Given the description of an element on the screen output the (x, y) to click on. 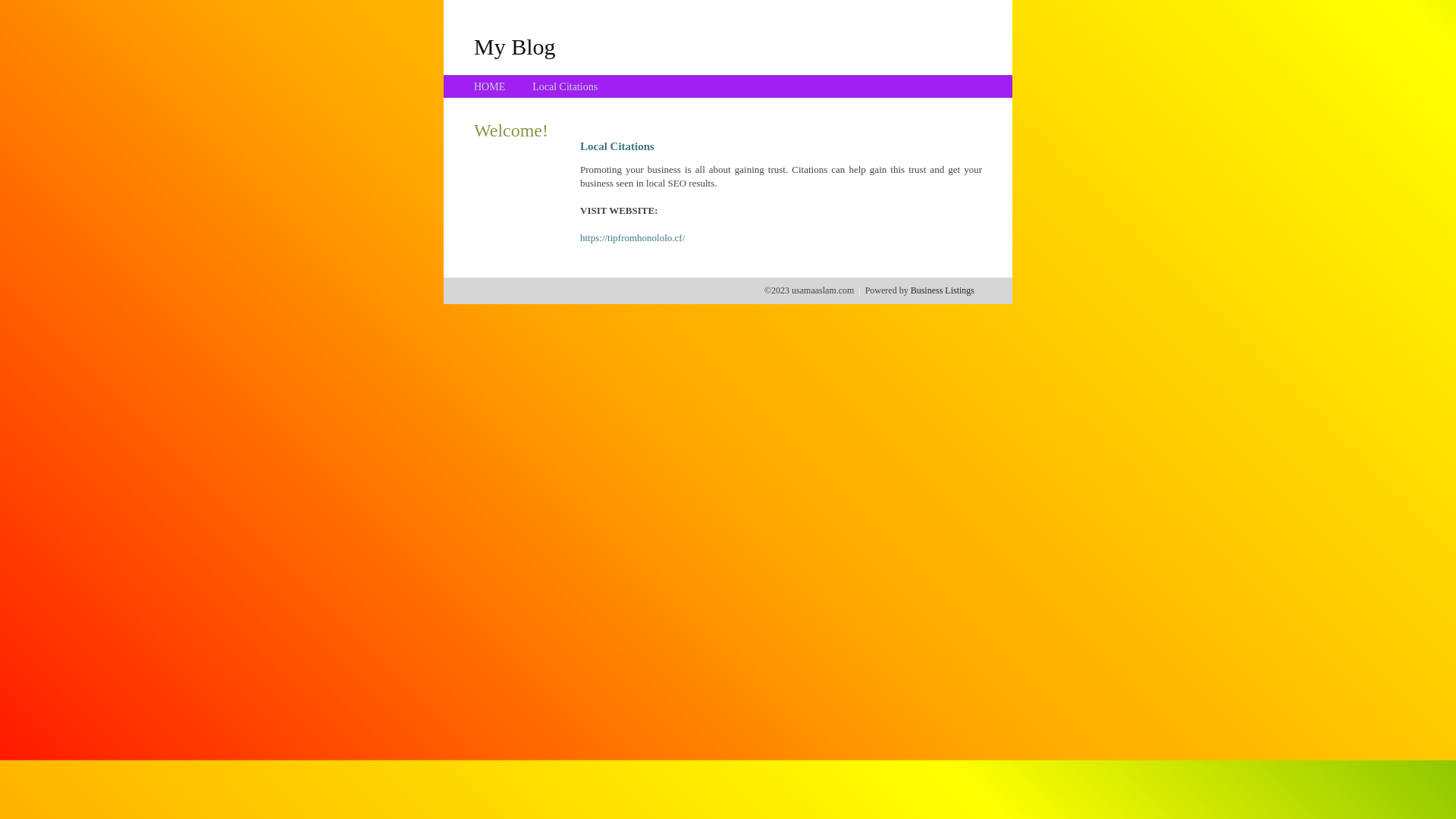
https://tipfromhonololo.cf/ Element type: text (632, 237)
My Blog Element type: text (514, 46)
Local Citations Element type: text (564, 86)
HOME Element type: text (489, 86)
Business Listings Element type: text (942, 290)
